Given the description of an element on the screen output the (x, y) to click on. 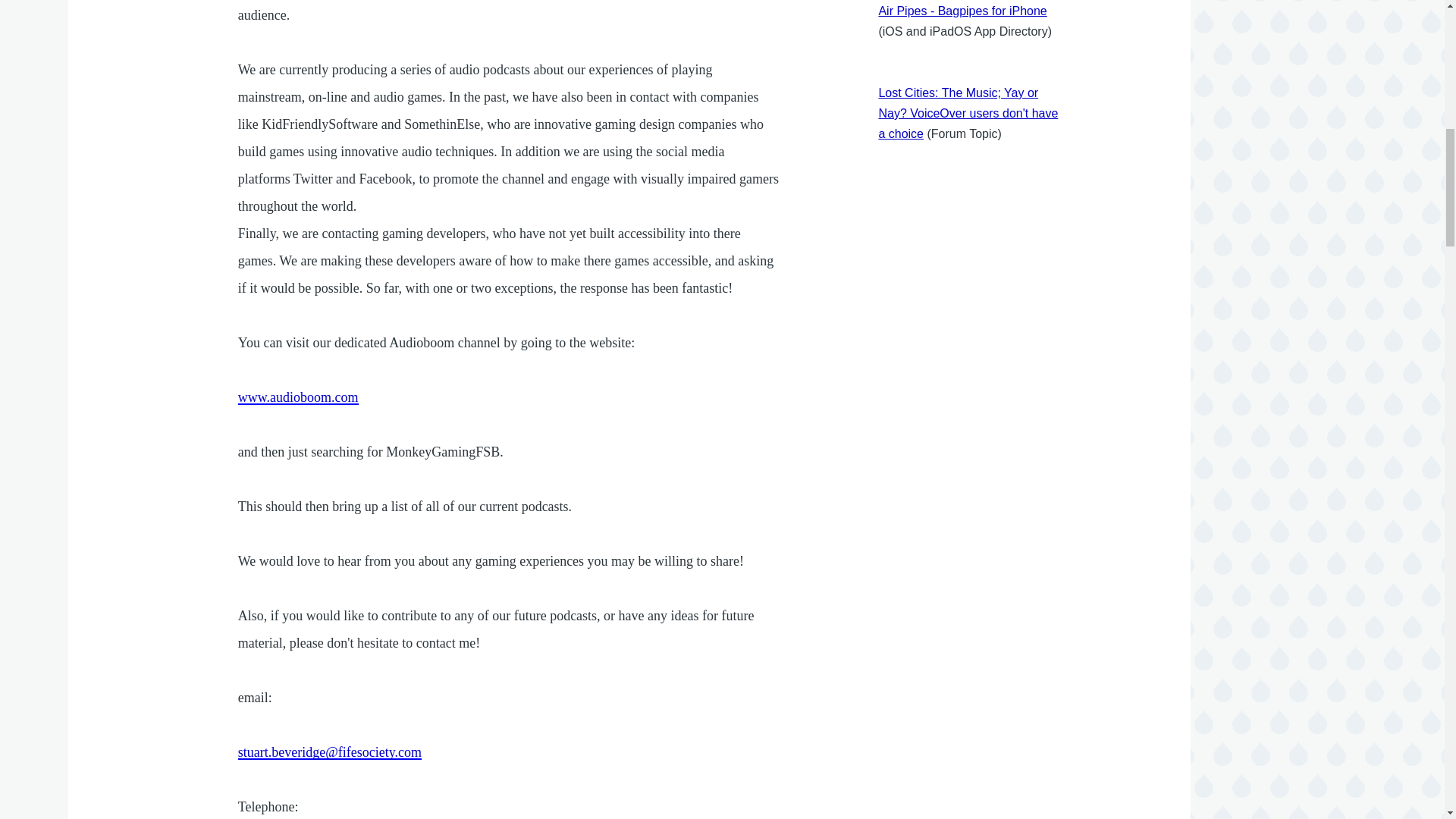
www.audioboom.com (298, 396)
